Given the description of an element on the screen output the (x, y) to click on. 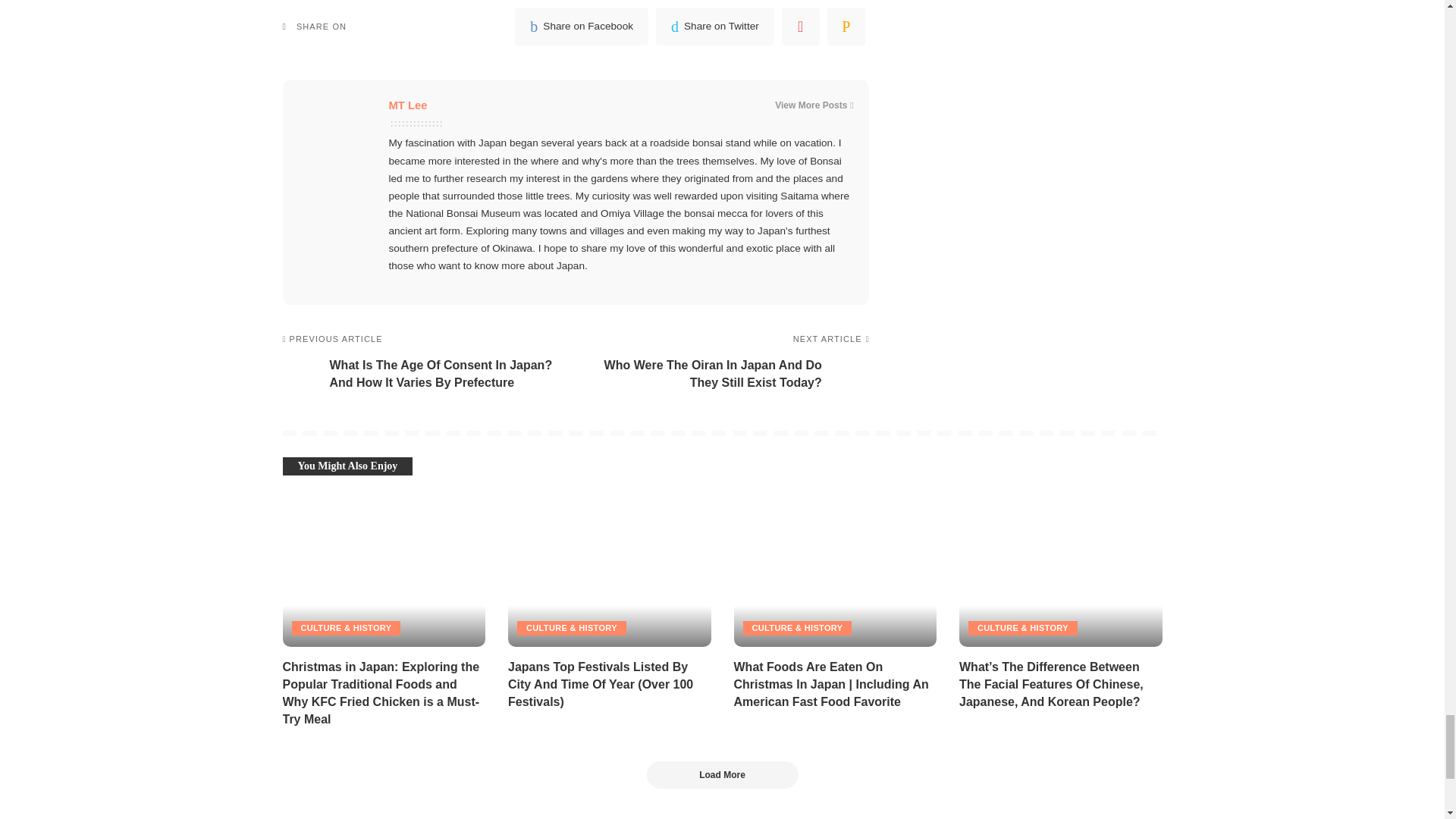
Email (845, 26)
Facebook (581, 26)
Pinterest (800, 26)
Twitter (715, 26)
